Given the description of an element on the screen output the (x, y) to click on. 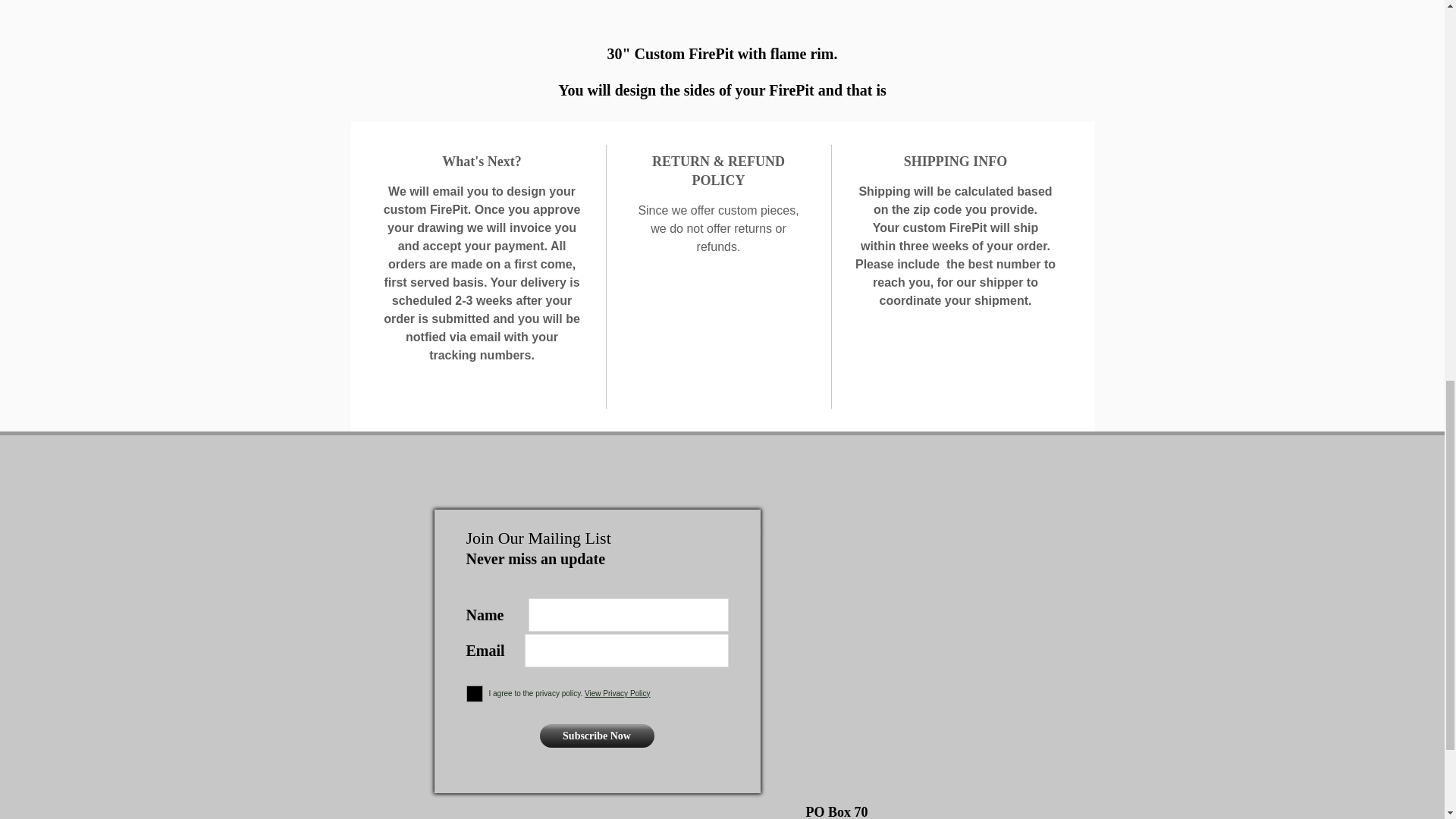
Subscribe Now (596, 735)
View Privacy Policy (617, 693)
